Given the description of an element on the screen output the (x, y) to click on. 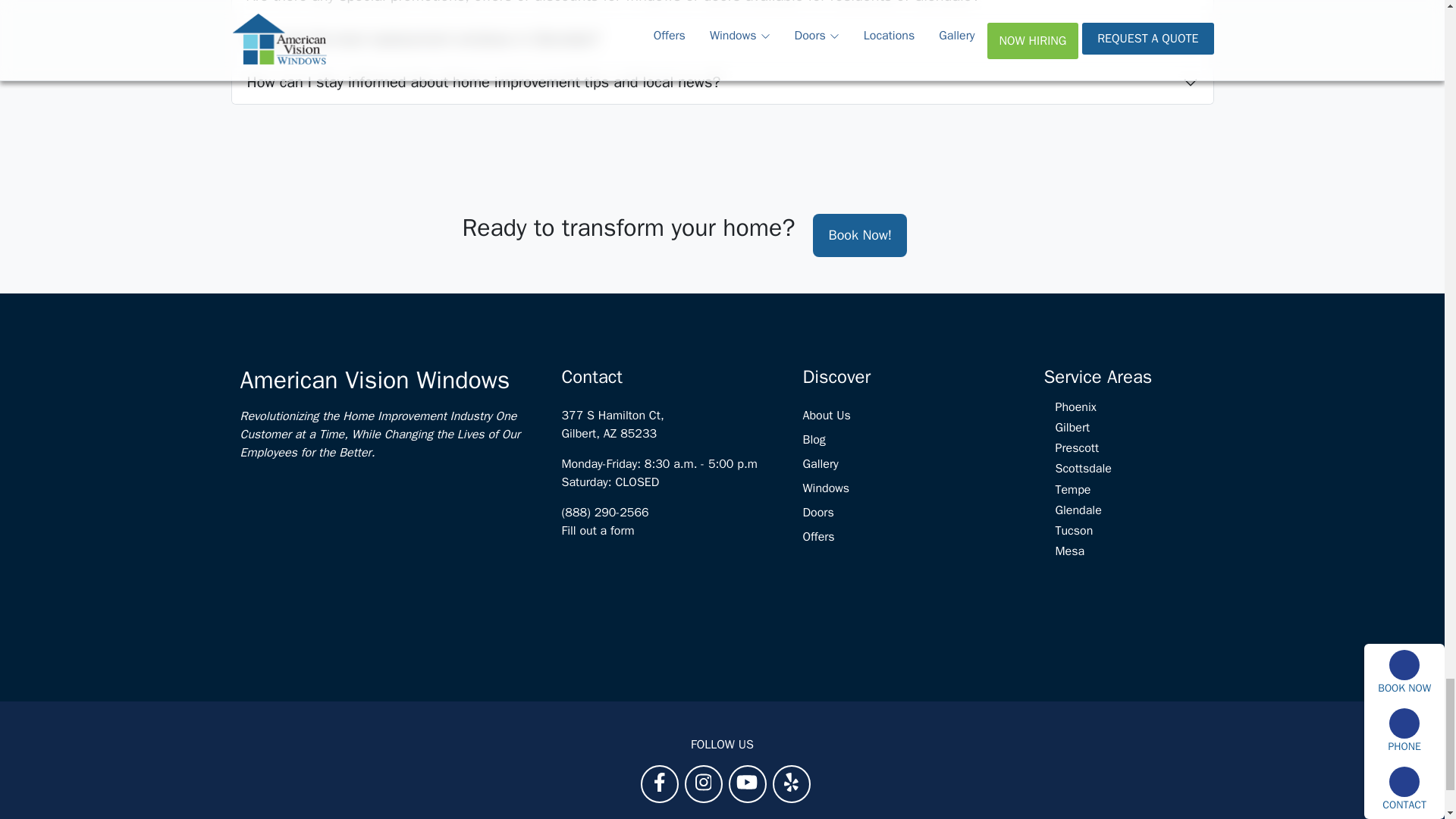
American Vision Windows Arizona Yelp (790, 781)
American Vision Windows Arizona Youtube (746, 781)
American Vision Windows Arizona Instagram (703, 781)
